Given the description of an element on the screen output the (x, y) to click on. 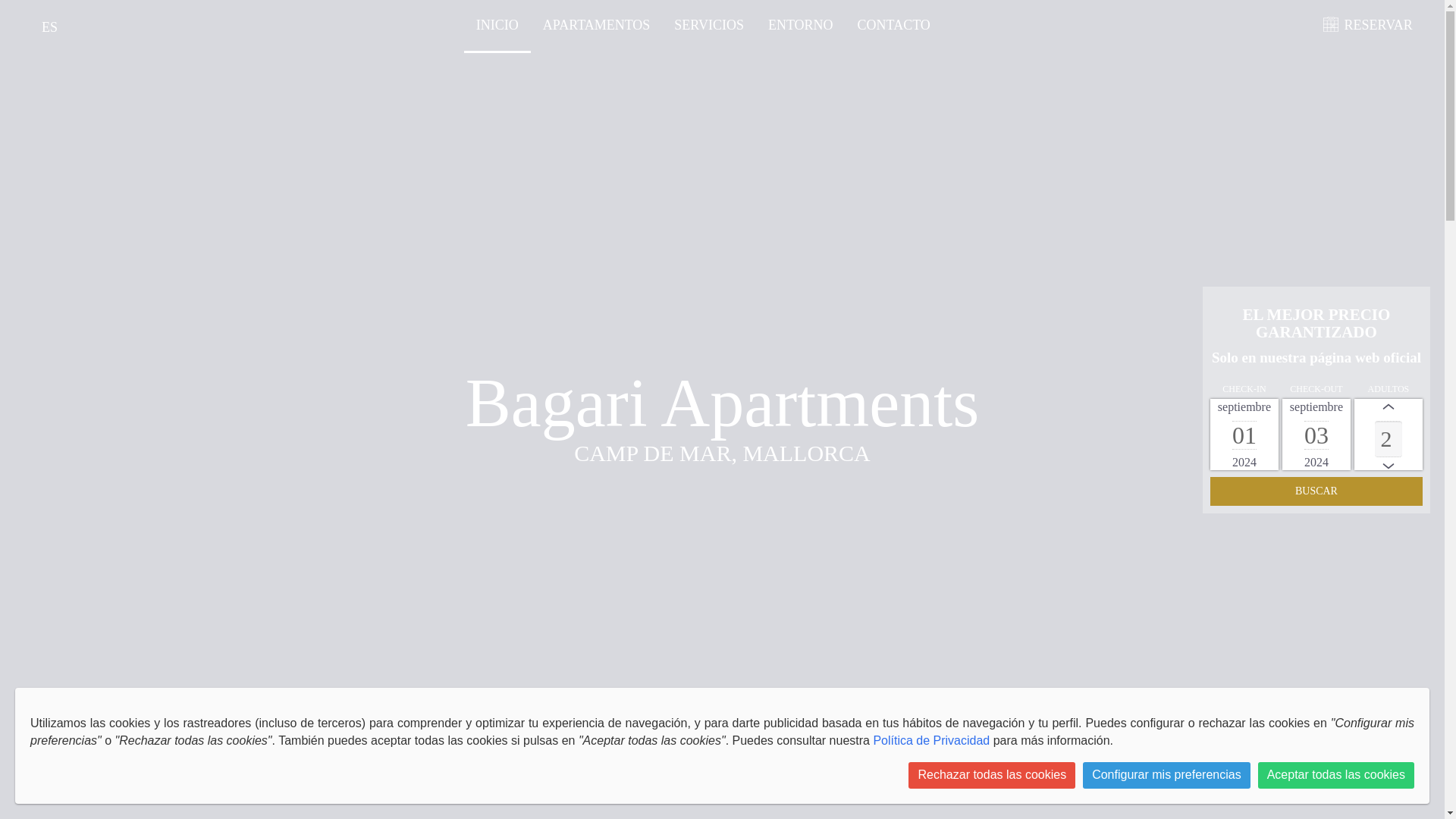
CONTACTO (893, 24)
INICIO (497, 24)
SERVICIOS (709, 24)
BUSCAR (1315, 491)
APARTAMENTOS (596, 24)
RESERVAR (1375, 24)
ES (49, 27)
ENTORNO (800, 24)
